Given the description of an element on the screen output the (x, y) to click on. 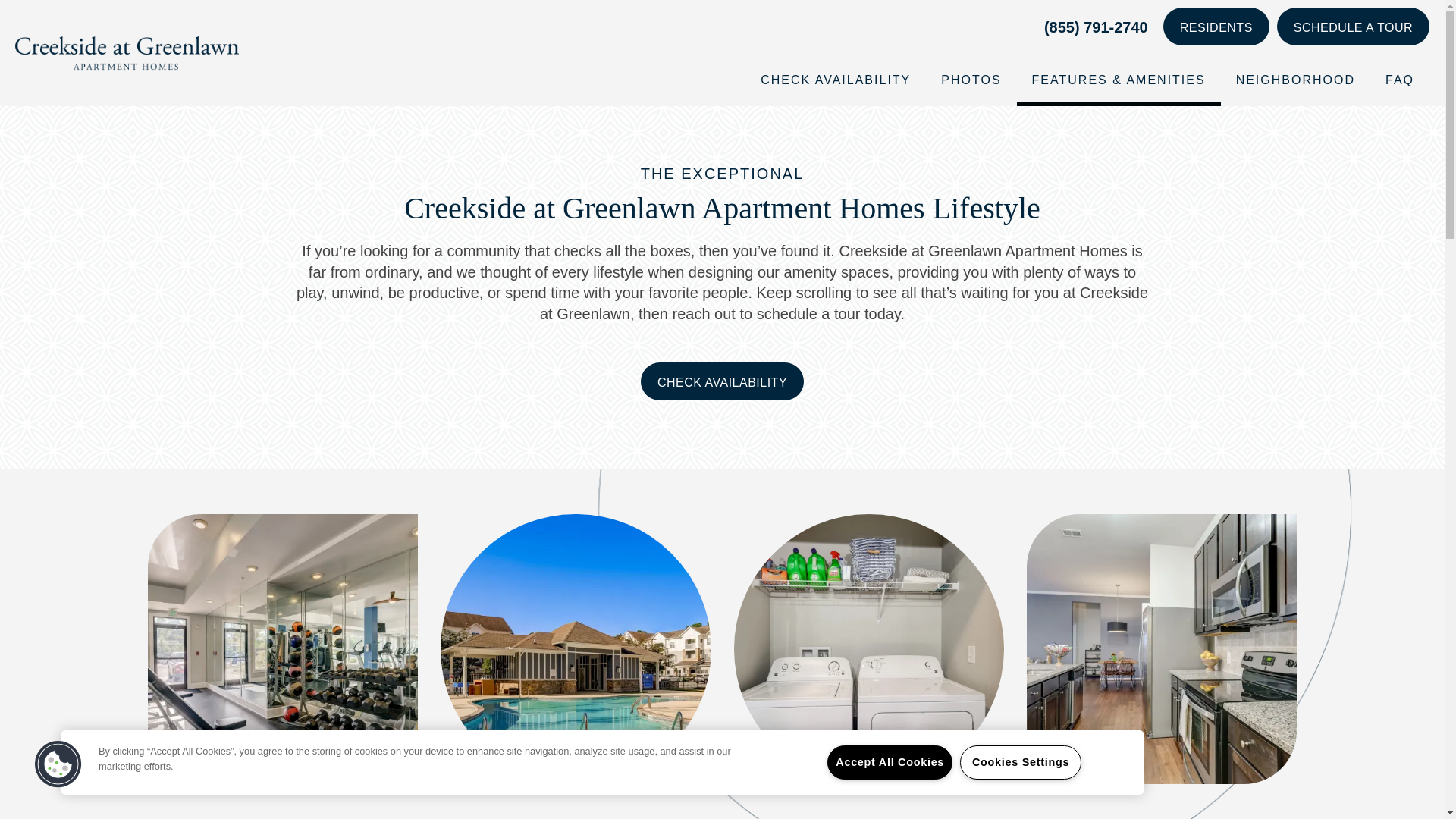
CHECK AVAILABILITY (721, 381)
Cookies Button (57, 764)
Property Phone Number (1095, 26)
CHECK AVAILABILITY (835, 79)
In-Home Features (868, 812)
NEIGHBORHOOD (1295, 79)
SCHEDULE A TOUR (1352, 26)
PHOTOS (971, 79)
Finishes (1161, 812)
Cookies Button (57, 764)
Indoor Amenities (282, 812)
RESIDENTS (1216, 26)
Outdoor Amenities (575, 812)
FAQ (1399, 79)
